Given the description of an element on the screen output the (x, y) to click on. 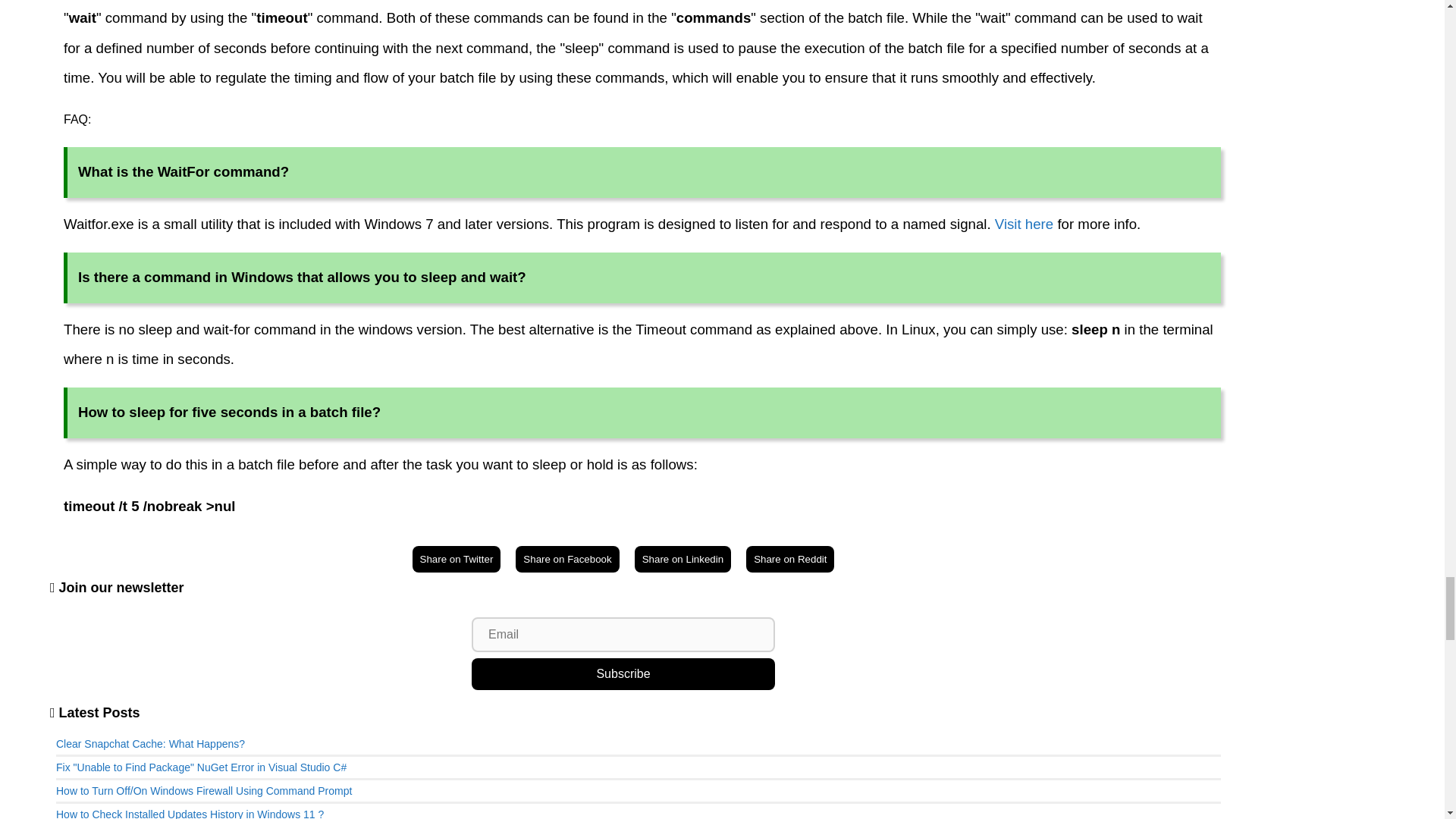
Visit here (1022, 223)
Share on Linkedin (682, 559)
Visit here (1022, 223)
Subscribe (622, 674)
Share on Reddit (789, 559)
Clear Snapchat Cache: What Happens? (150, 743)
Share on Facebook (566, 559)
Subscribe (622, 674)
Share on Twitter (456, 559)
